Given the description of an element on the screen output the (x, y) to click on. 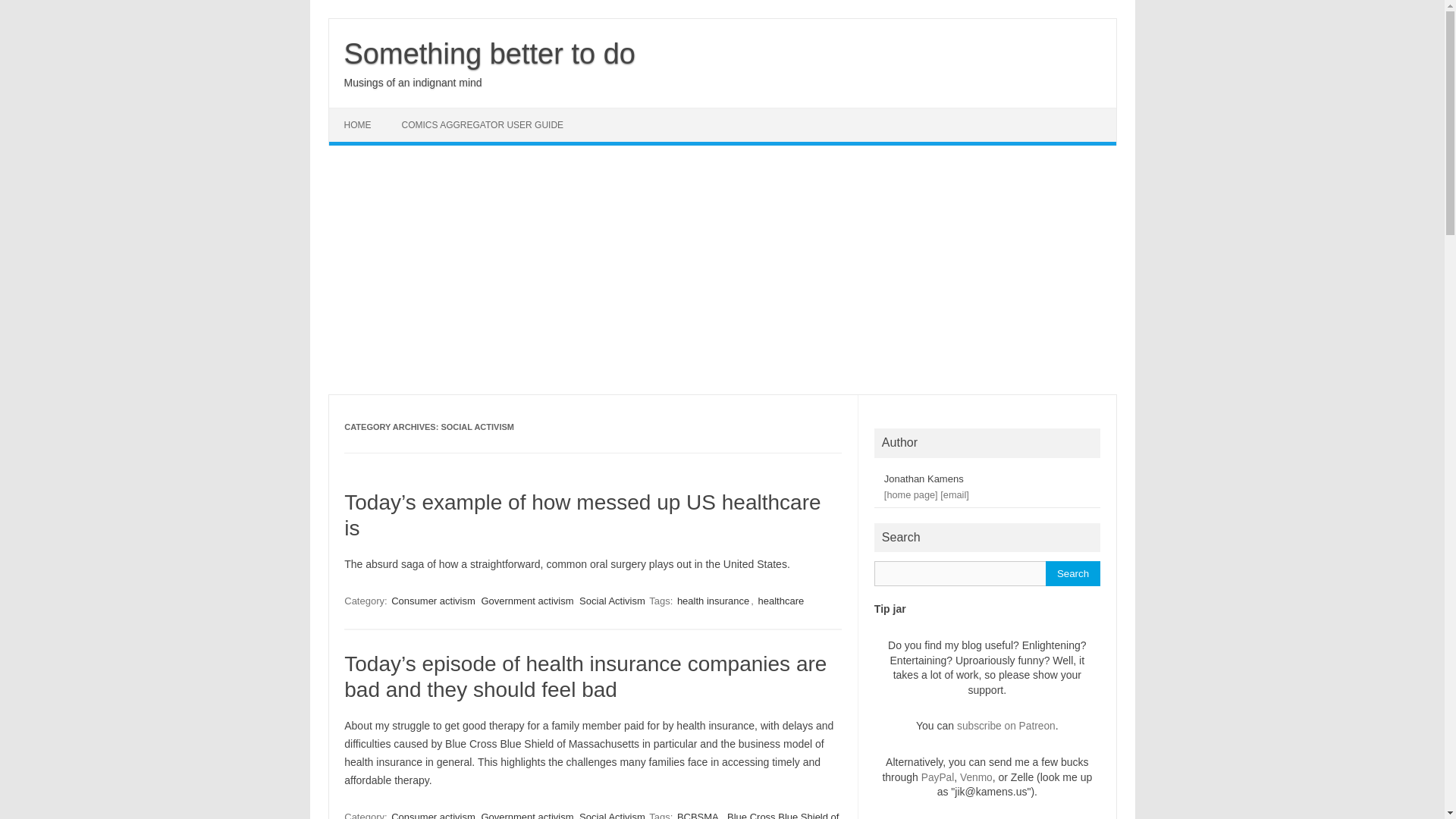
Social Activism (612, 814)
BCBSMA (697, 814)
Government activism (527, 600)
Consumer activism (433, 600)
Something better to do (488, 53)
Social Activism (612, 600)
Search (1072, 573)
Blue Cross Blue Shield of Massachusetts (590, 814)
Consumer activism (433, 814)
health insurance (713, 600)
